Given the description of an element on the screen output the (x, y) to click on. 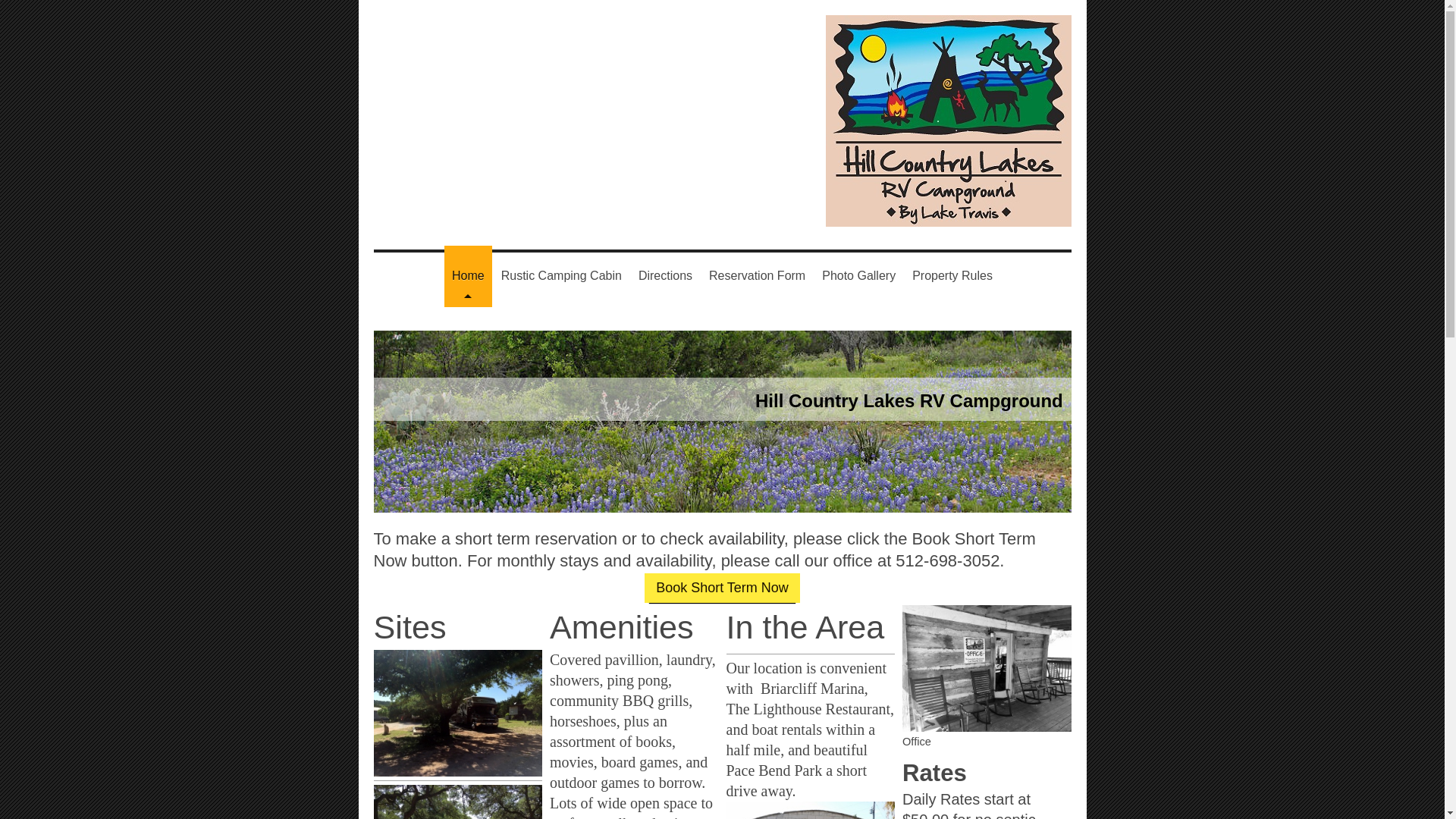
Property Rules (952, 276)
Reservation Form (756, 276)
Book Short Term Now (722, 587)
Hill Country Lakes RV Campground (908, 400)
Photo Gallery (857, 276)
Directions (665, 276)
Office (986, 676)
Rustic Camping Cabin (560, 276)
